Given the description of an element on the screen output the (x, y) to click on. 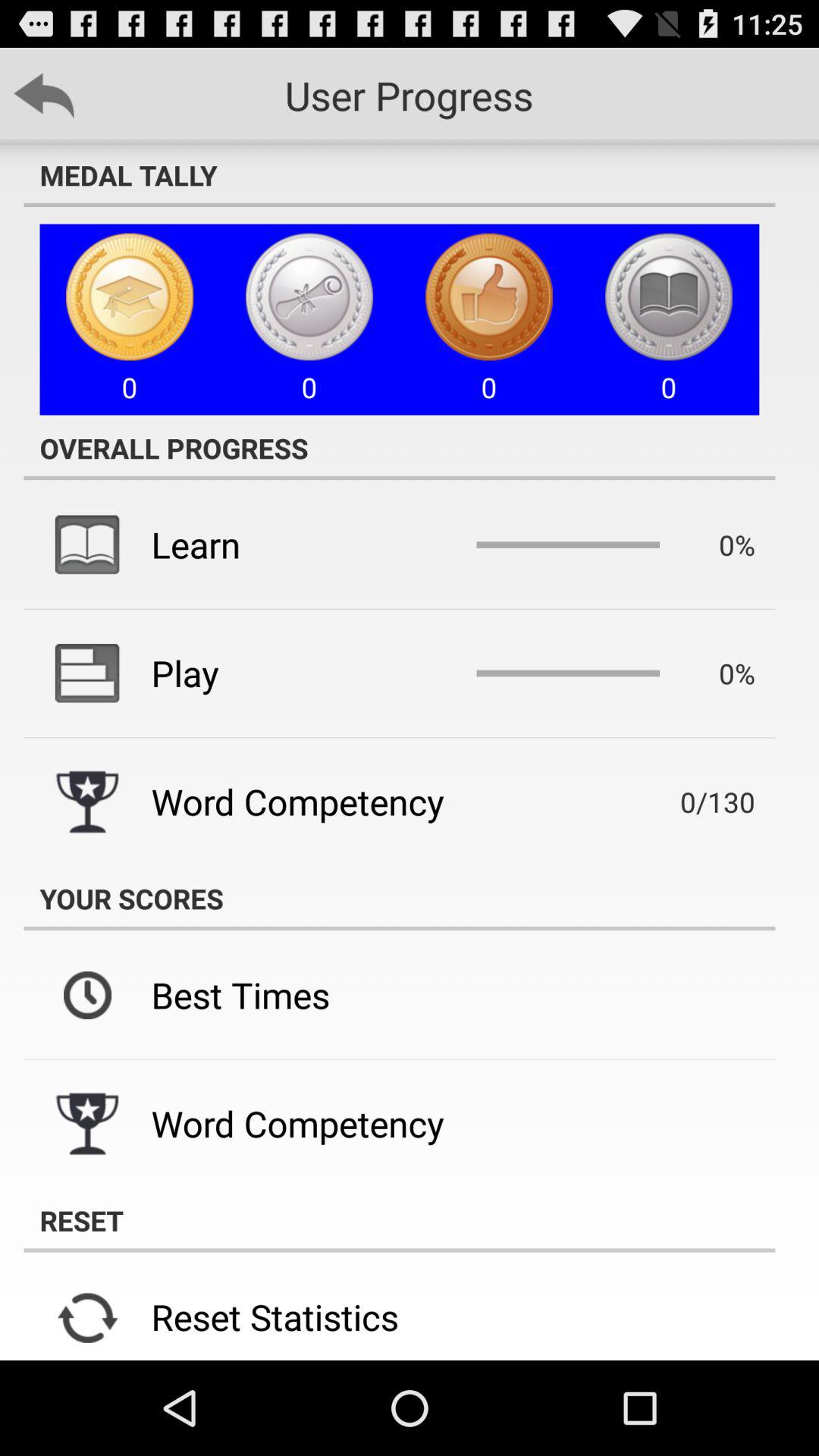
launch medal tally icon (399, 175)
